Given the description of an element on the screen output the (x, y) to click on. 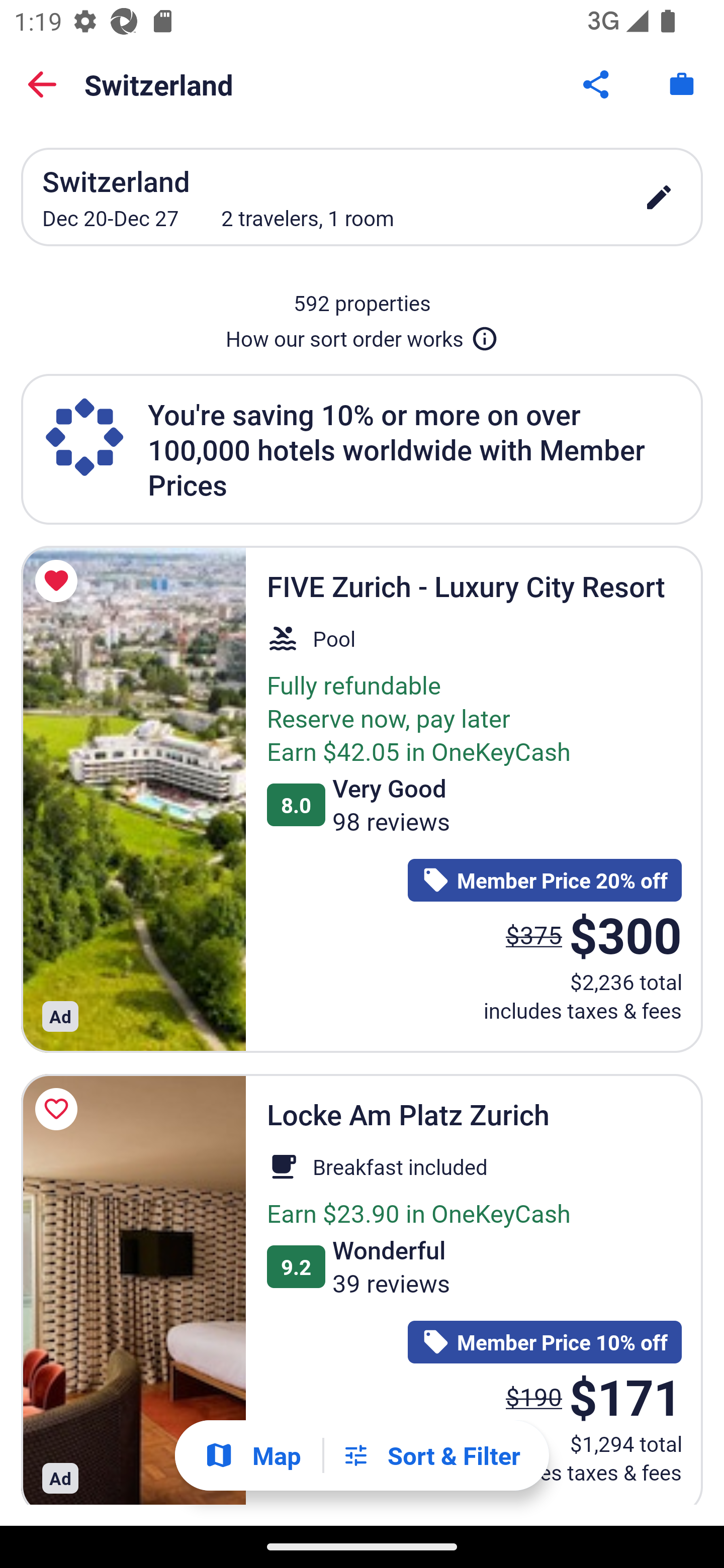
Back (42, 84)
Share Button (597, 84)
Trips. Button (681, 84)
Switzerland Dec 20-Dec 27 2 travelers, 1 room edit (361, 196)
How our sort order works (361, 334)
FIVE Zurich - Luxury City Resort (133, 798)
$375 The price was $375 (533, 934)
Save Locke Am Platz Zurich to a trip (59, 1108)
Locke Am Platz Zurich (133, 1289)
$190 The price was $190 (533, 1396)
Filters Sort & Filter Filters Button (430, 1455)
Show map Map Show map Button (252, 1455)
